Given the description of an element on the screen output the (x, y) to click on. 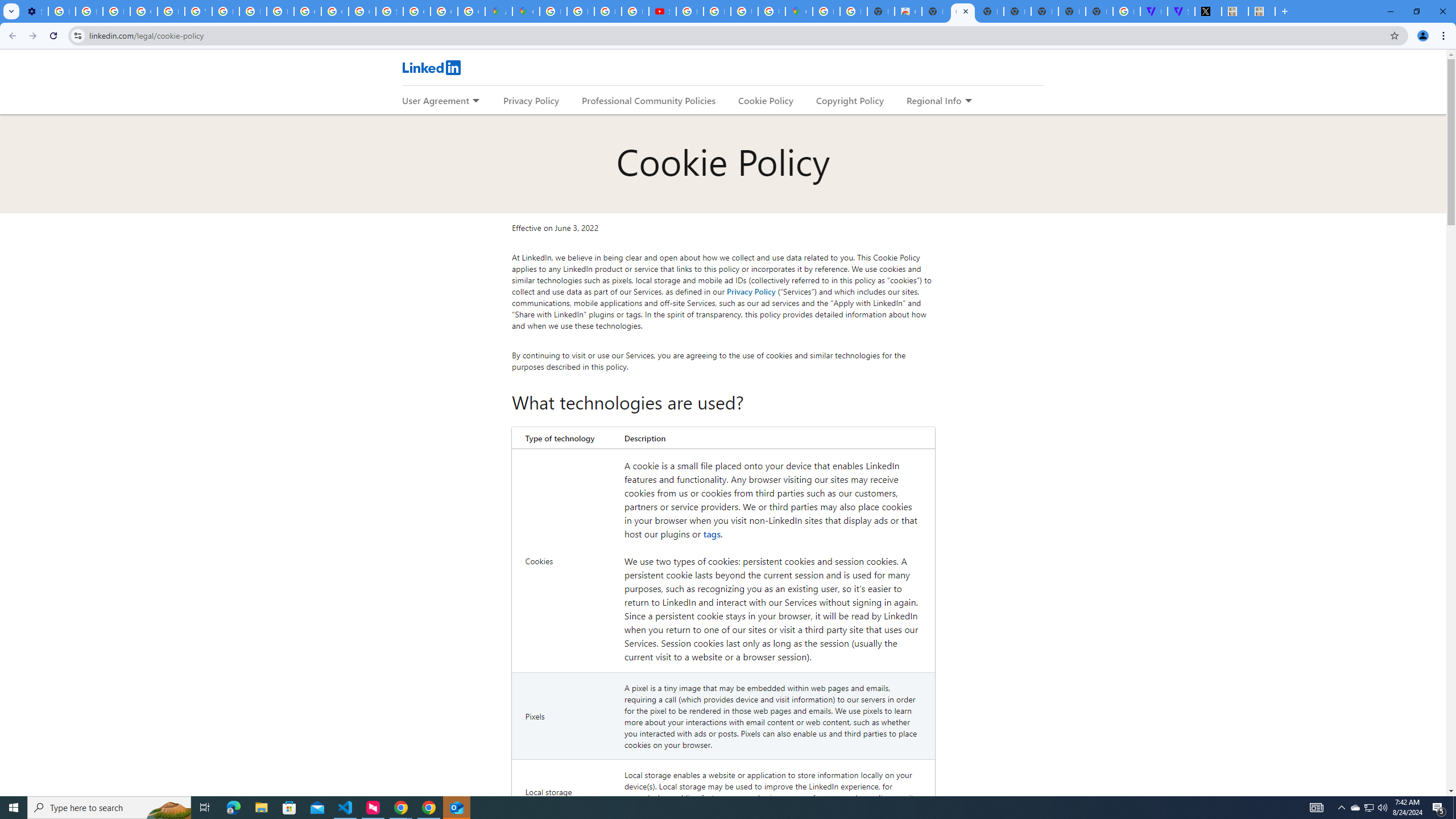
Forward (32, 35)
LinkedIn Logo (430, 67)
New Tab (1099, 11)
System (6, 6)
Minimize (1390, 11)
Regional Info (933, 100)
Privacy Help Center - Policies Help (607, 11)
Google Maps (525, 11)
Professional Community Policies (649, 100)
MILEY CYRUS. (1261, 11)
System (6, 6)
